Given the description of an element on the screen output the (x, y) to click on. 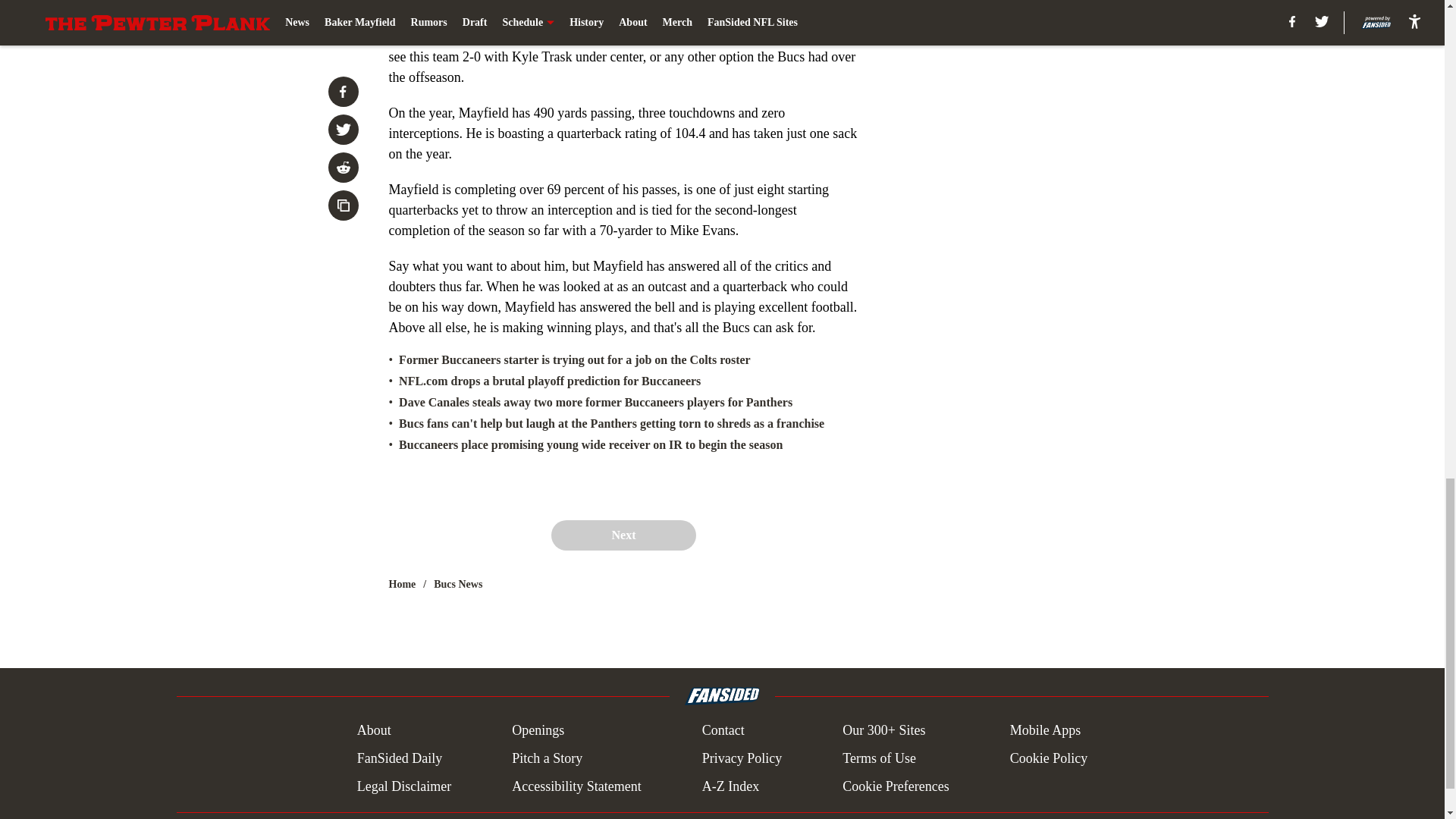
Openings (538, 730)
NFL.com drops a brutal playoff prediction for Buccaneers (549, 381)
Next (622, 535)
About (373, 730)
Contact (722, 730)
Home (401, 584)
Bucs News (457, 584)
